Given the description of an element on the screen output the (x, y) to click on. 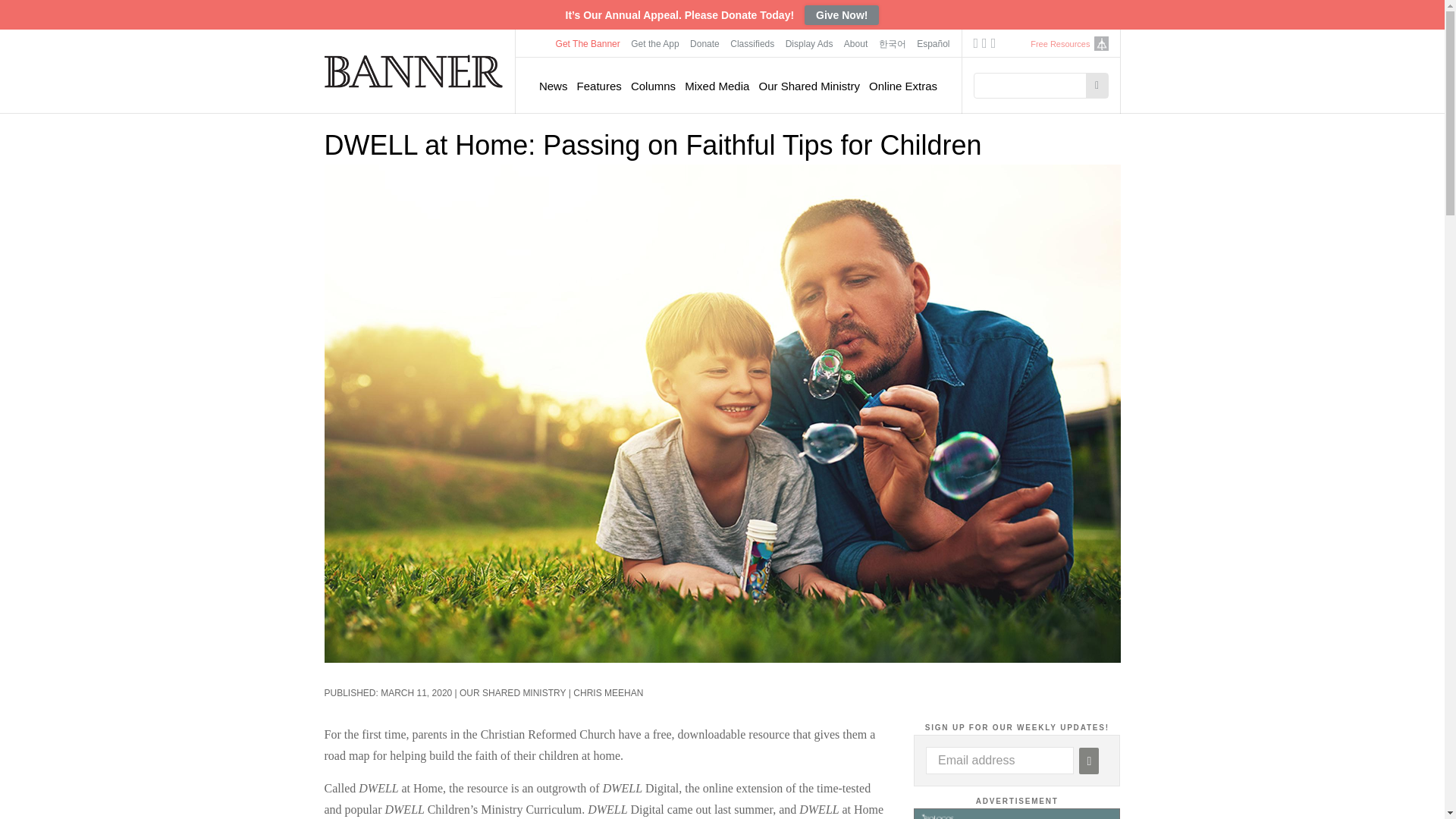
Get the App (654, 43)
OUR SHARED MINISTRY (513, 692)
Free Resources (1059, 44)
Enter the terms you wish to search for. (1035, 85)
Display Ads (809, 43)
About (855, 43)
Classifieds (751, 43)
Columns (652, 85)
Online Extras (903, 85)
Get The Banner (587, 43)
